Given the description of an element on the screen output the (x, y) to click on. 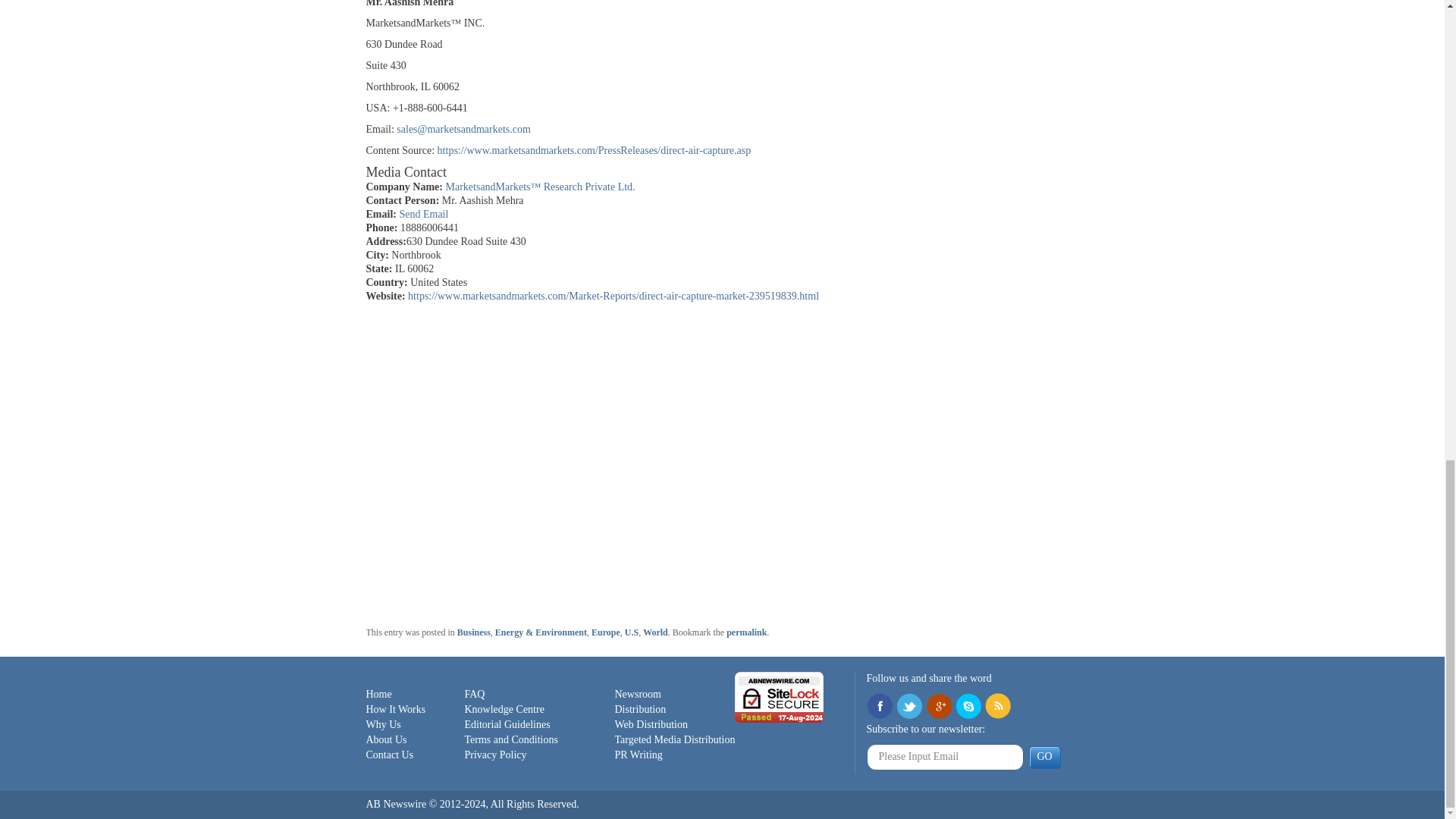
GO (1043, 757)
SiteLock (779, 696)
Please Input Email (944, 756)
